Given the description of an element on the screen output the (x, y) to click on. 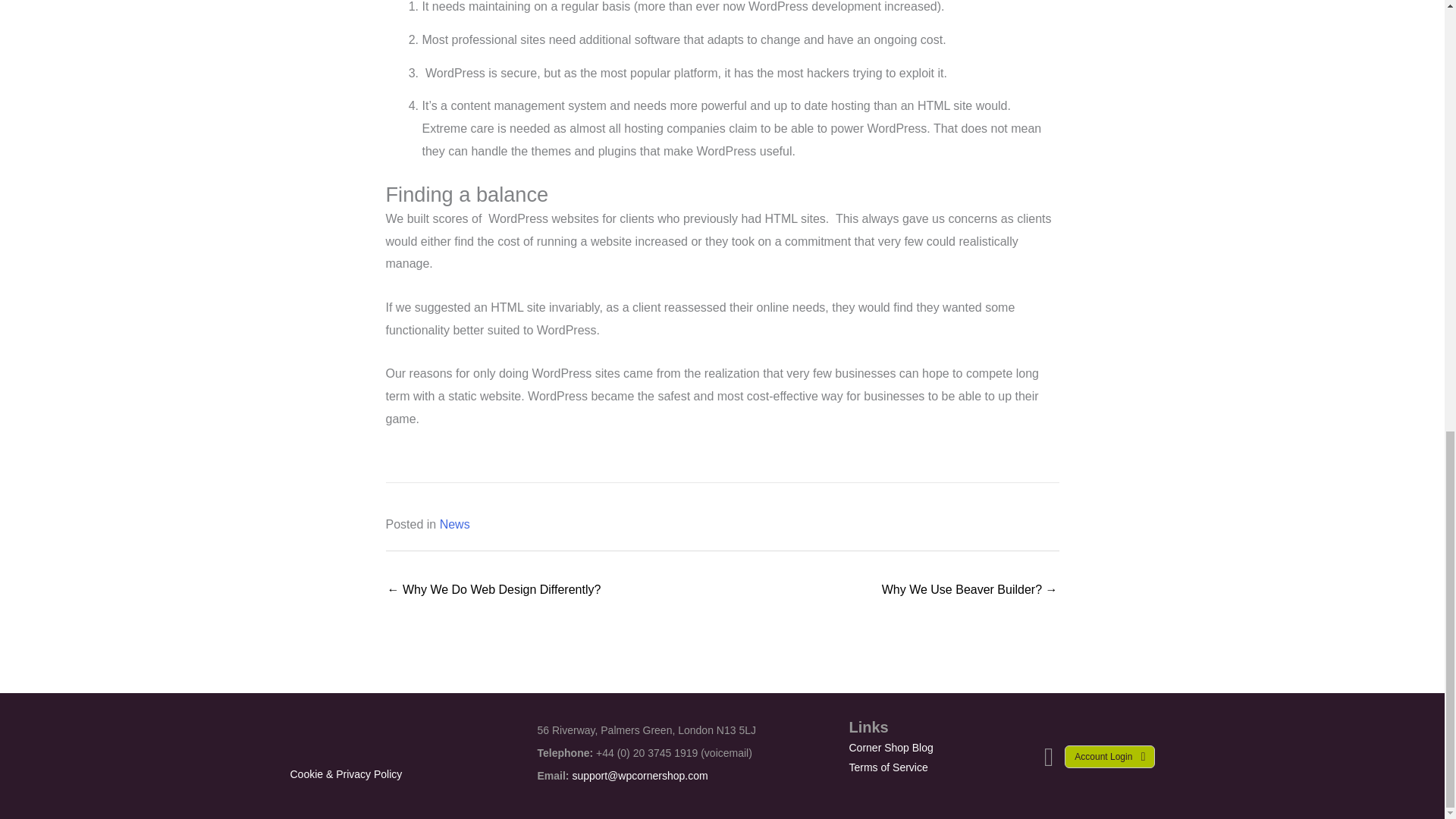
Account Login (1109, 756)
Terms of Service (888, 767)
Corner Shop Blog (890, 747)
News (454, 522)
simple logo4 (341, 737)
